Given the description of an element on the screen output the (x, y) to click on. 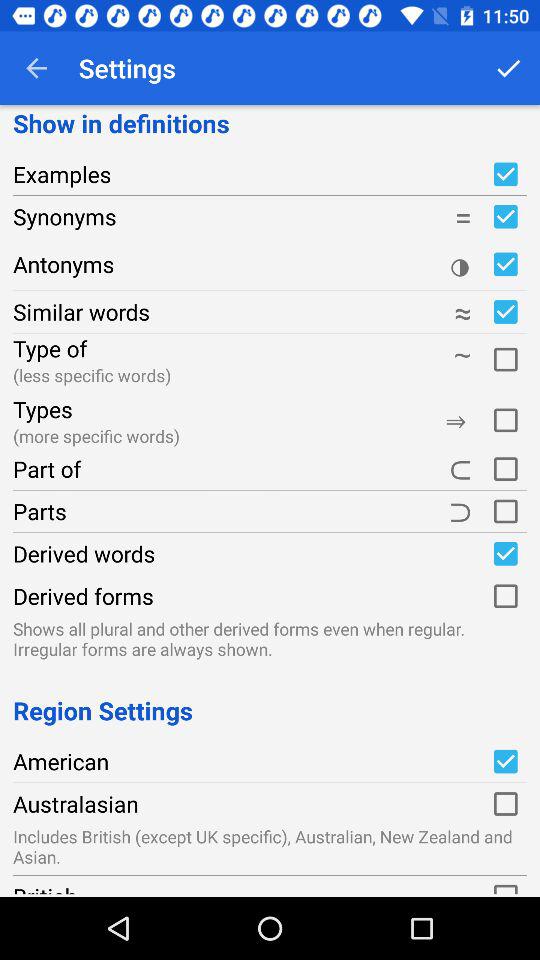
select type of (505, 356)
